Given the description of an element on the screen output the (x, y) to click on. 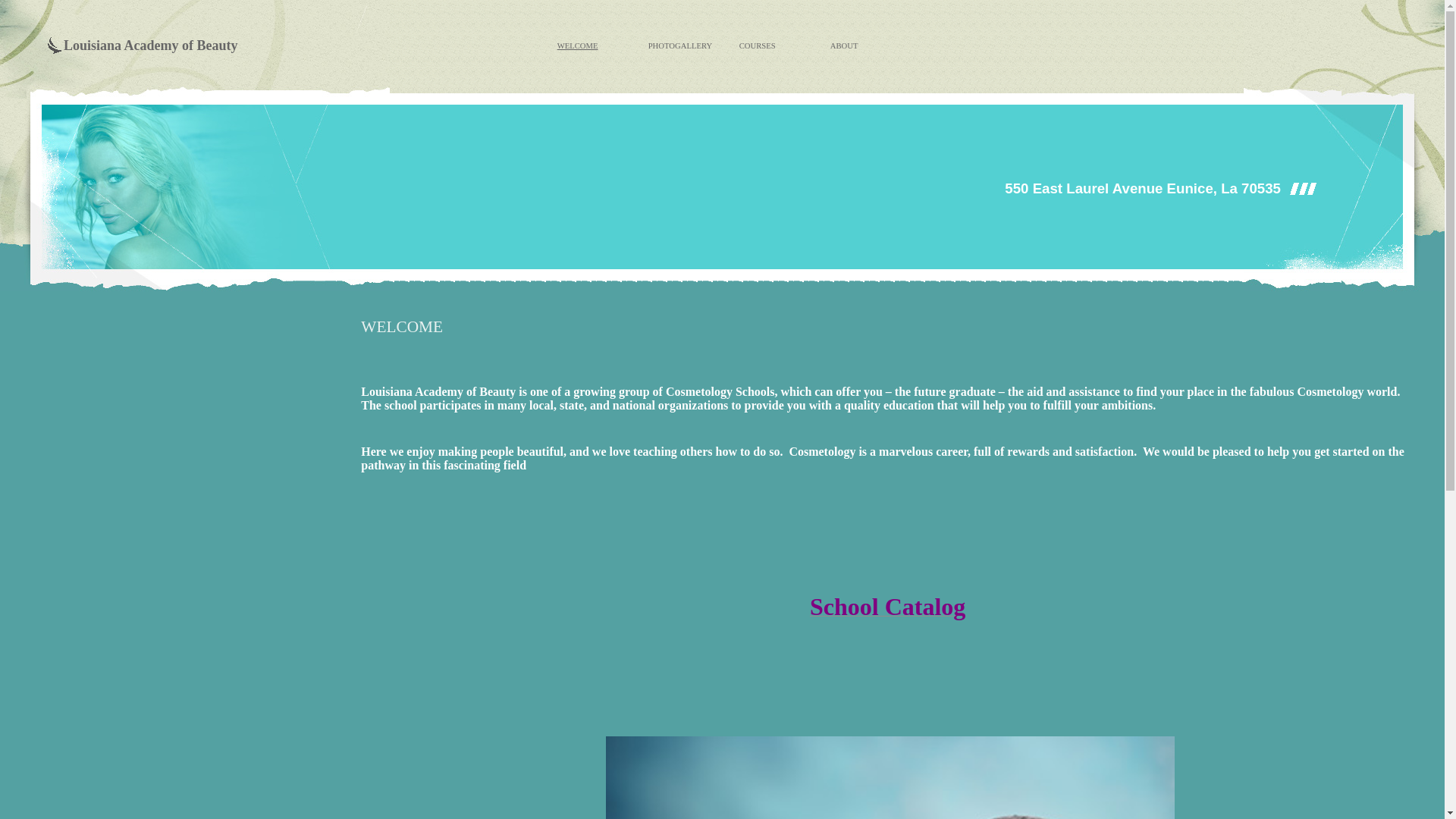
School Catalog (887, 612)
PHOTOGALLERY (679, 44)
COURSES (757, 44)
WELCOME (577, 44)
ABOUT (844, 44)
